Given the description of an element on the screen output the (x, y) to click on. 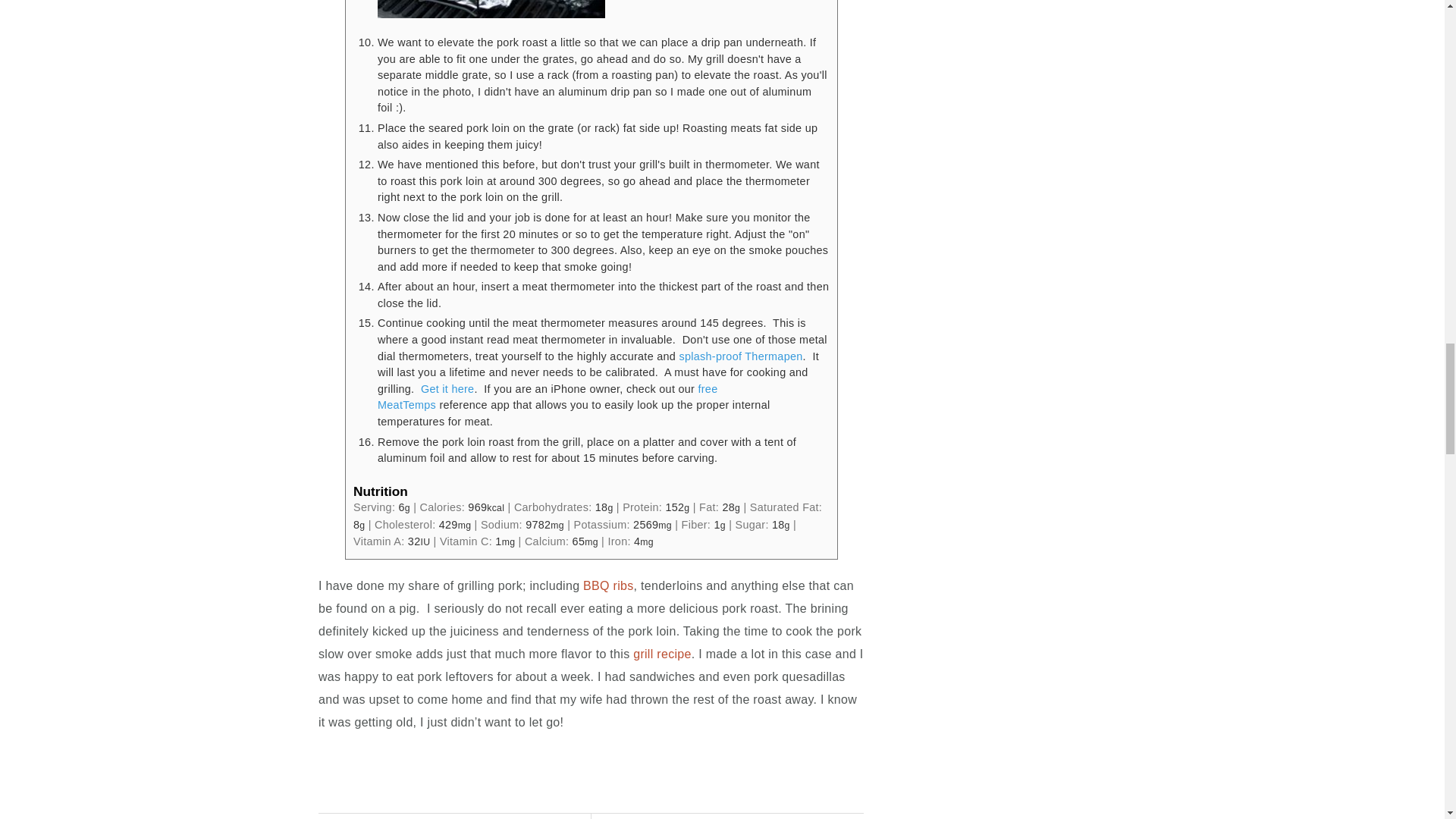
free MeatTemps (547, 397)
grill recipe (662, 653)
Get it here (447, 388)
BBQ ribs (608, 585)
splash-proof Thermapen (740, 356)
